Given the description of an element on the screen output the (x, y) to click on. 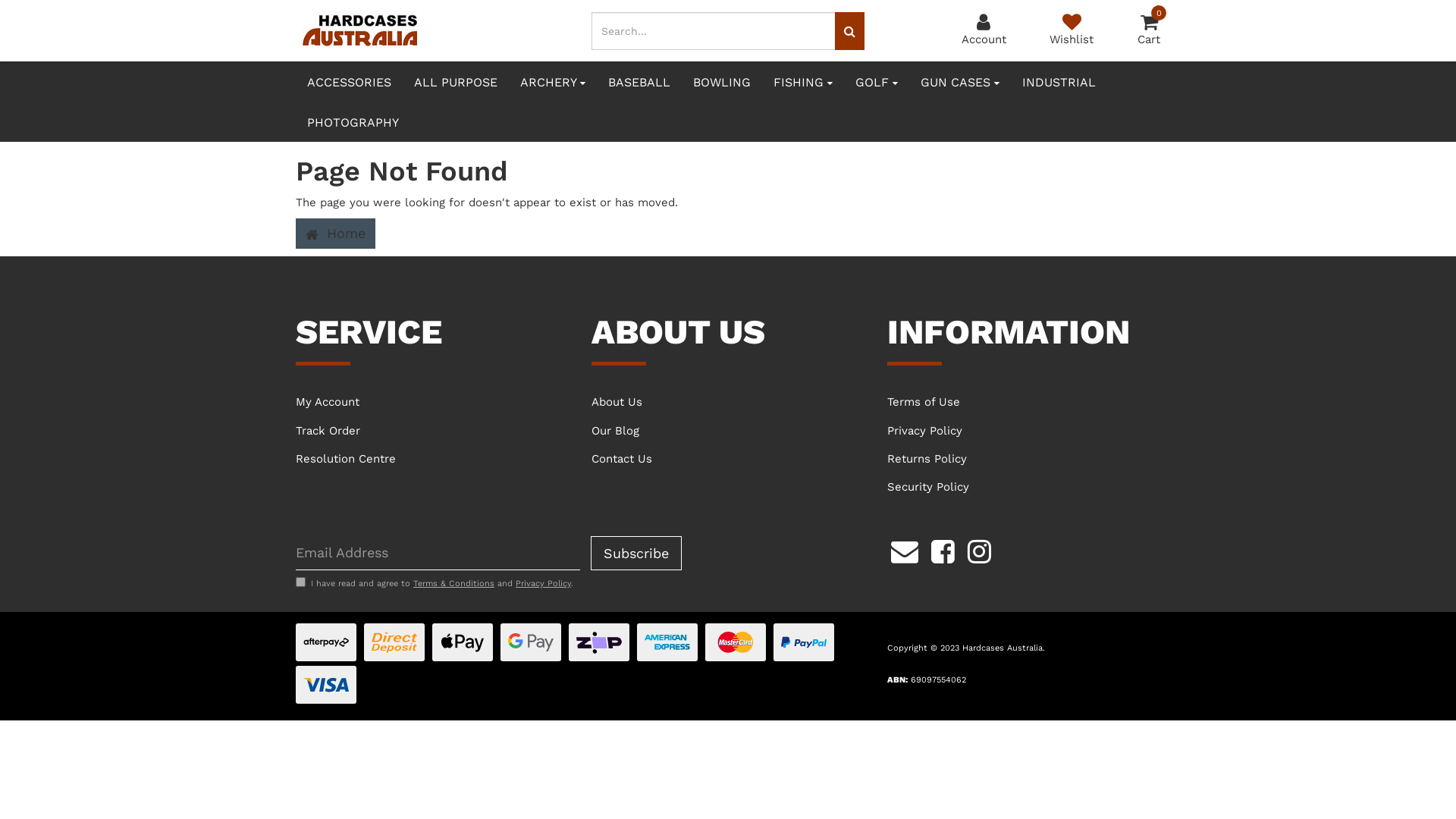
My Account Element type: text (431, 402)
Search Element type: text (849, 31)
Account Element type: text (983, 31)
ACCESSORIES Element type: text (348, 81)
Returns Policy Element type: text (1023, 459)
BASEBALL Element type: text (638, 81)
INDUSTRIAL Element type: text (1058, 81)
Facebook Element type: text (942, 549)
ARCHERY Element type: text (552, 81)
Hardcases Australia Element type: hover (359, 29)
Resolution Centre Element type: text (431, 459)
Terms of Use Element type: text (1023, 402)
Subscribe Element type: text (635, 553)
About Us Element type: text (727, 402)
FISHING Element type: text (803, 81)
BOWLING Element type: text (721, 81)
Email us Element type: hover (904, 549)
Terms & Conditions Element type: text (453, 583)
ALL PURPOSE Element type: text (455, 81)
Our Blog Element type: text (727, 431)
Wishlist Element type: text (1071, 31)
Instagram Element type: text (979, 549)
Privacy Policy Element type: text (543, 583)
0
Cart Element type: text (1148, 31)
GUN CASES Element type: text (959, 81)
Privacy Policy Element type: text (1023, 431)
Security Policy Element type: text (1023, 487)
Home Element type: text (335, 233)
GOLF Element type: text (876, 81)
Contact Us Element type: text (727, 459)
Track Order Element type: text (431, 431)
PHOTOGRAPHY Element type: text (352, 121)
